Given the description of an element on the screen output the (x, y) to click on. 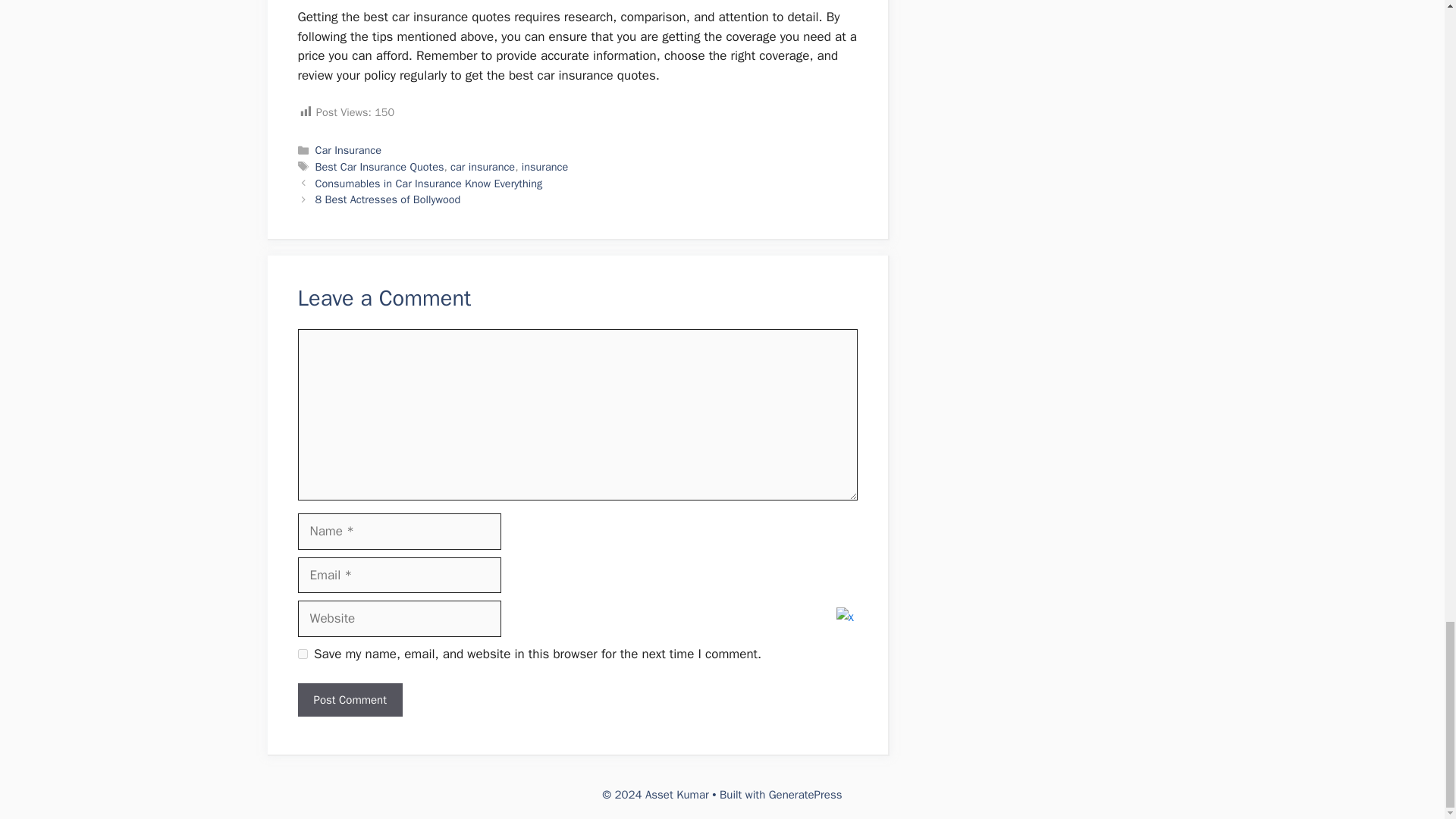
Post Comment (349, 700)
Car Insurance (348, 150)
yes (302, 654)
insurance (544, 166)
Consumables in Car Insurance Know Everything (429, 183)
Best Car Insurance Quotes (379, 166)
8 Best Actresses of Bollywood (388, 199)
GeneratePress (805, 794)
Post Comment (349, 700)
car insurance (482, 166)
